Given the description of an element on the screen output the (x, y) to click on. 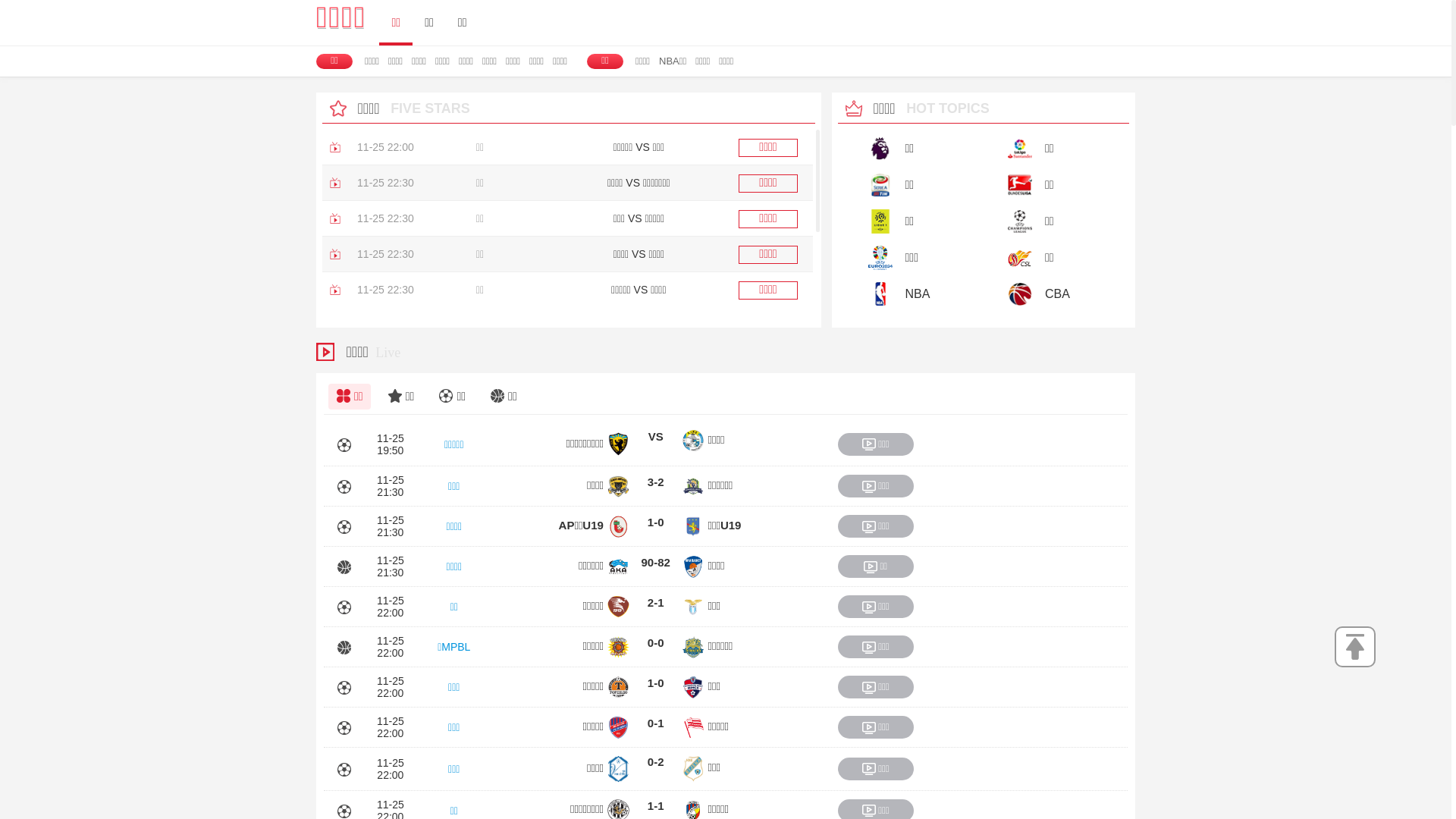
NBA Element type: text (905, 293)
CBA Element type: text (1045, 293)
